Given the description of an element on the screen output the (x, y) to click on. 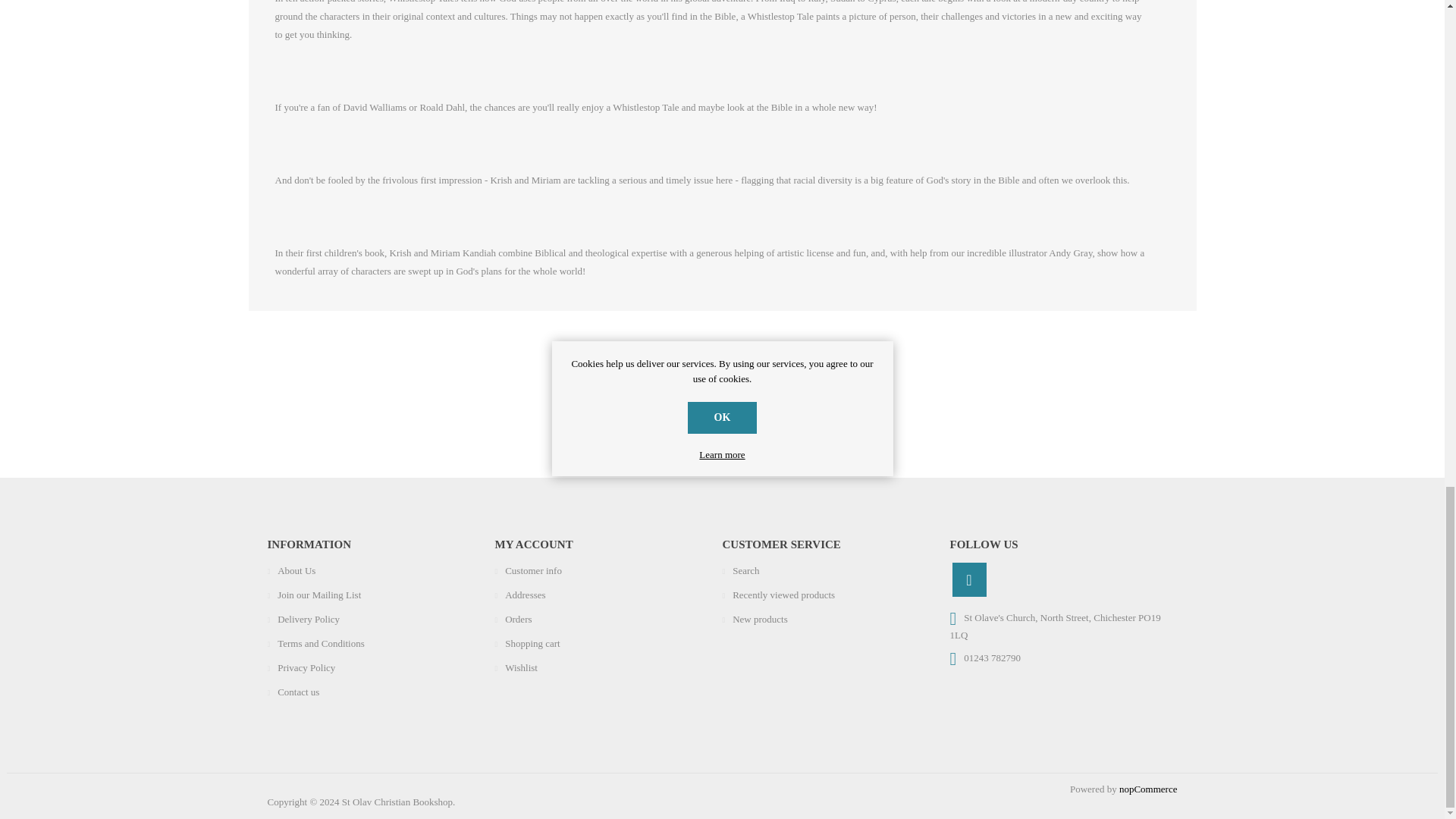
About Us (296, 570)
Join our Mailing List (319, 594)
